Given the description of an element on the screen output the (x, y) to click on. 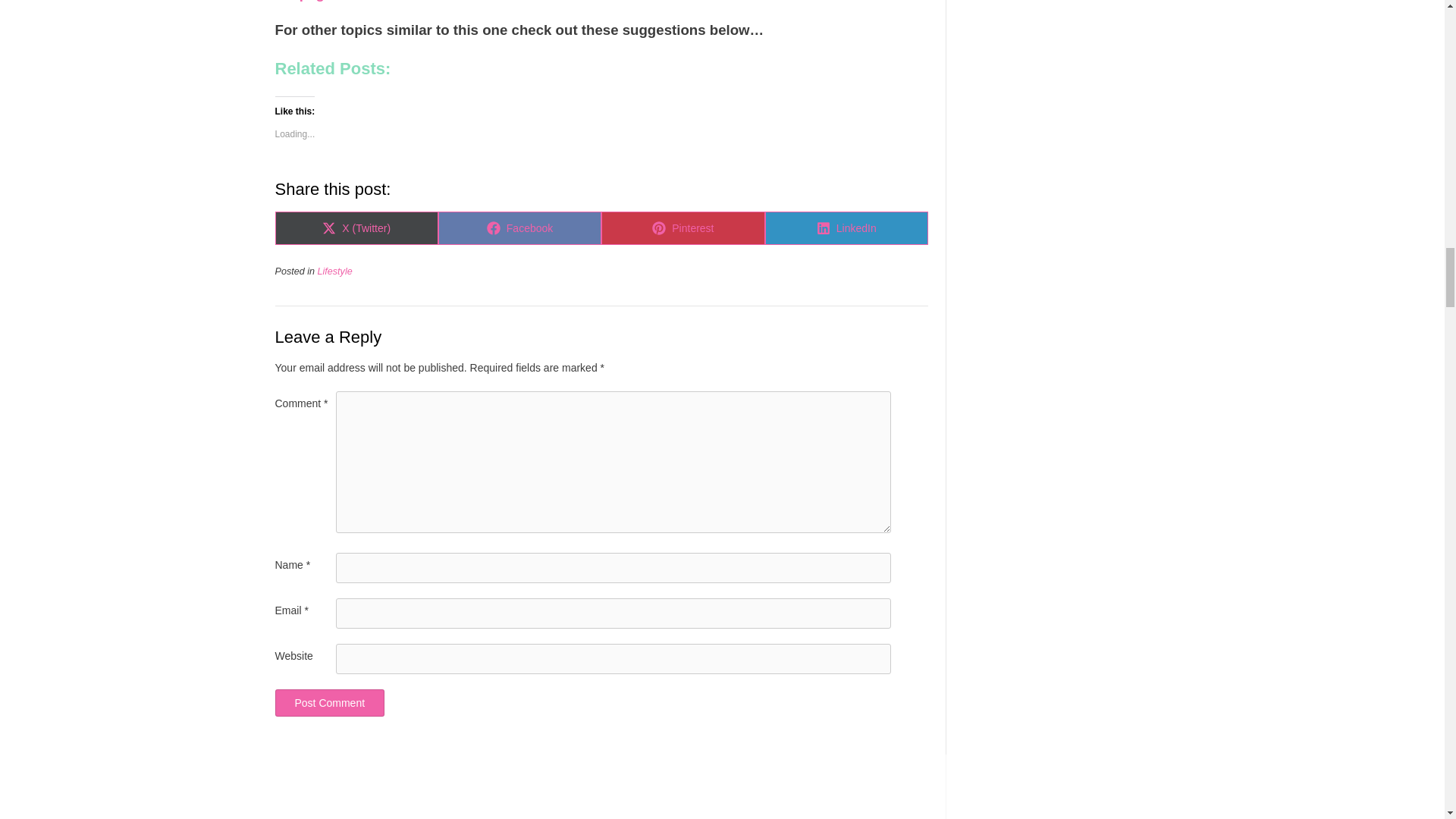
Post Comment (329, 702)
